Given the description of an element on the screen output the (x, y) to click on. 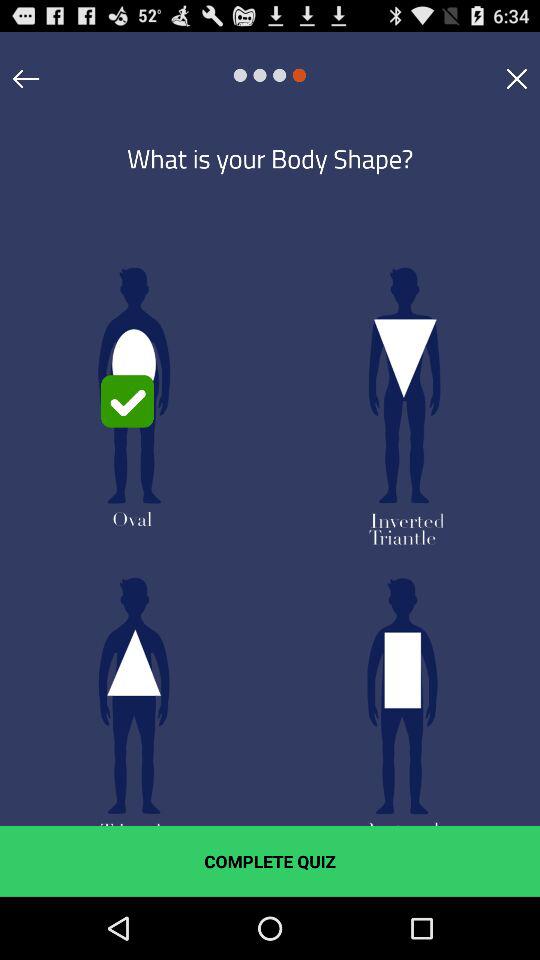
button to cancel (516, 78)
